Given the description of an element on the screen output the (x, y) to click on. 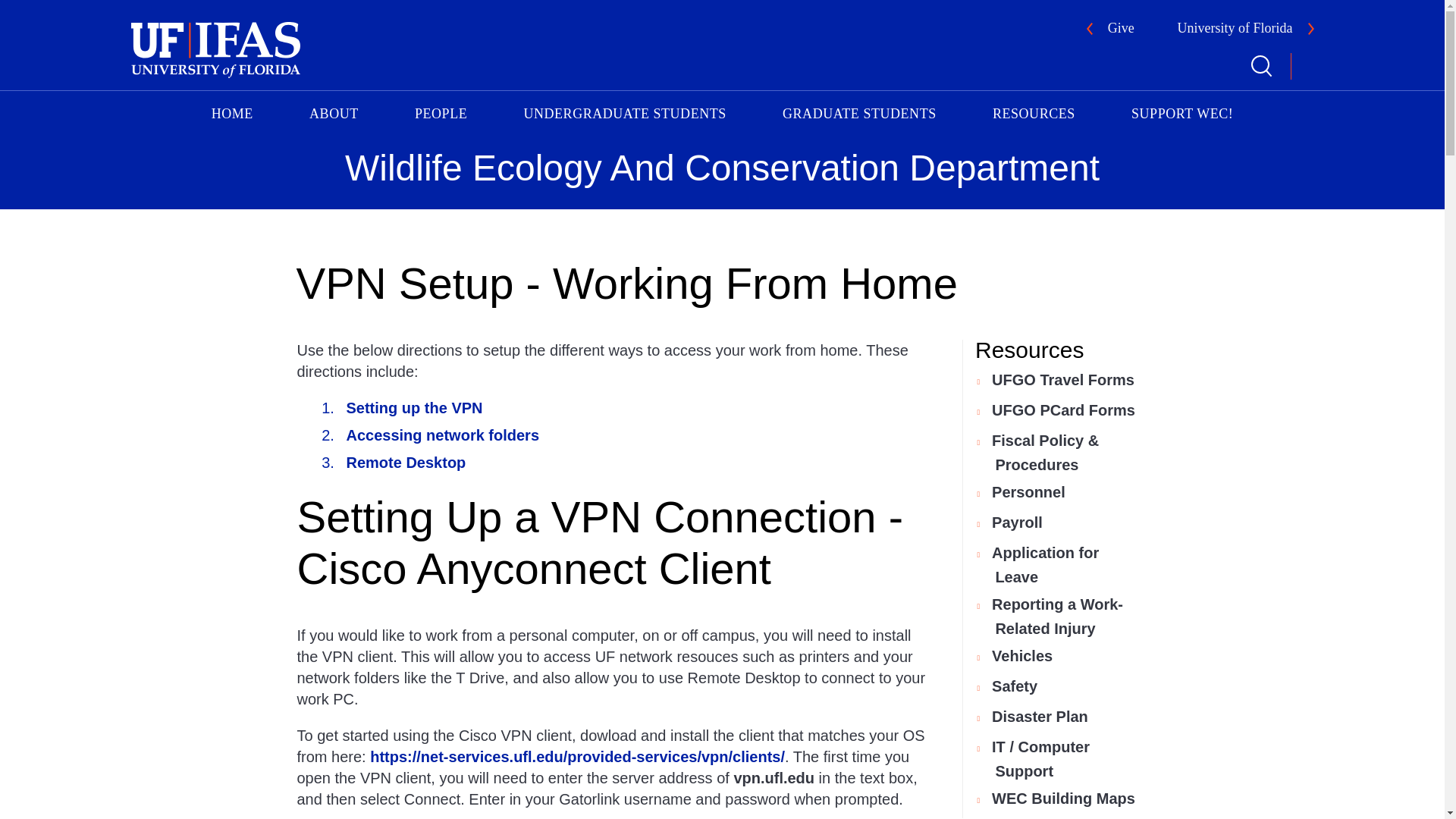
ABOUT (333, 111)
Give (1110, 30)
UNDERGRADUATE STUDENTS (624, 111)
Search Link (1260, 65)
Toggle Search Form (1260, 65)
University of Florida (1245, 30)
HOME (232, 111)
PEOPLE (441, 111)
